Given the description of an element on the screen output the (x, y) to click on. 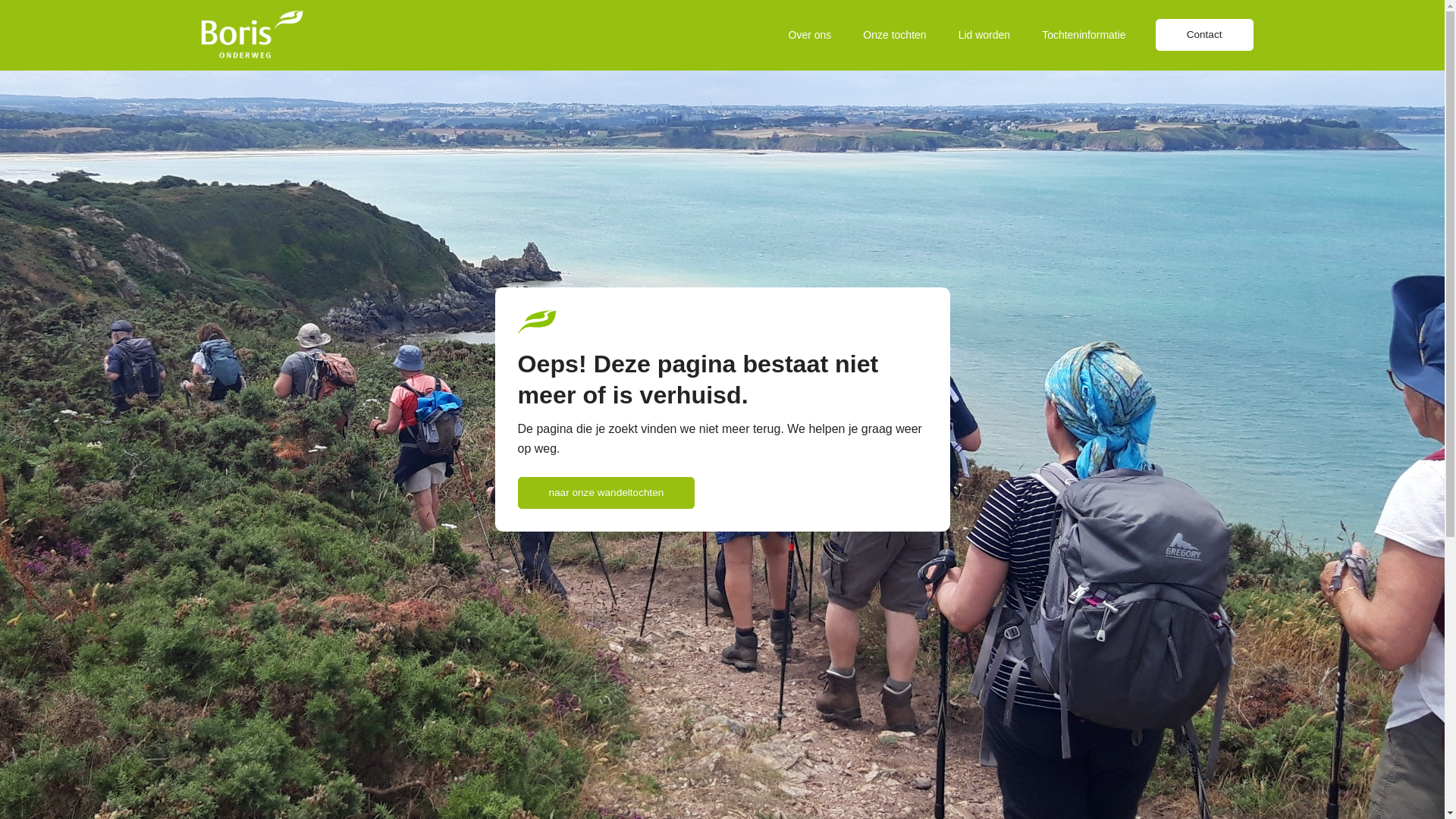
Onze tochten Element type: text (894, 34)
naar onze wandeltochten Element type: text (605, 492)
Lid worden Element type: text (984, 34)
Tochteninformatie Element type: text (1084, 34)
Contact Element type: text (1204, 34)
Over ons Element type: text (809, 34)
